Given the description of an element on the screen output the (x, y) to click on. 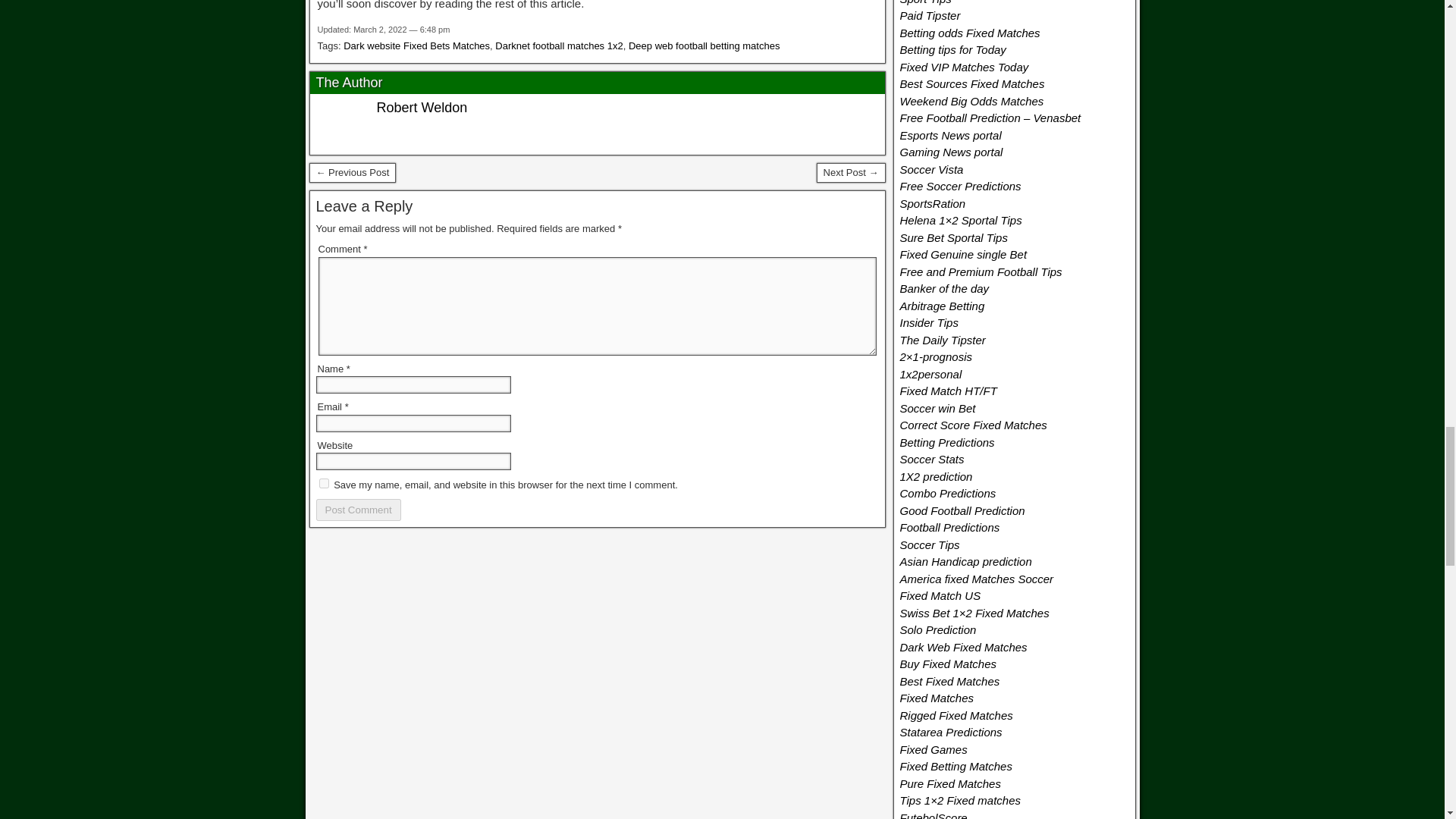
Darknet football matches 1x2 (559, 45)
Betting Tips for Today (850, 172)
yes (323, 483)
Dark website Fixed Bets Matches (416, 45)
Deep web football betting matches (703, 45)
Post Comment (357, 509)
Post Comment (357, 509)
Fixed Matches Telegram Group Link (352, 172)
Robert Weldon (421, 107)
